Given the description of an element on the screen output the (x, y) to click on. 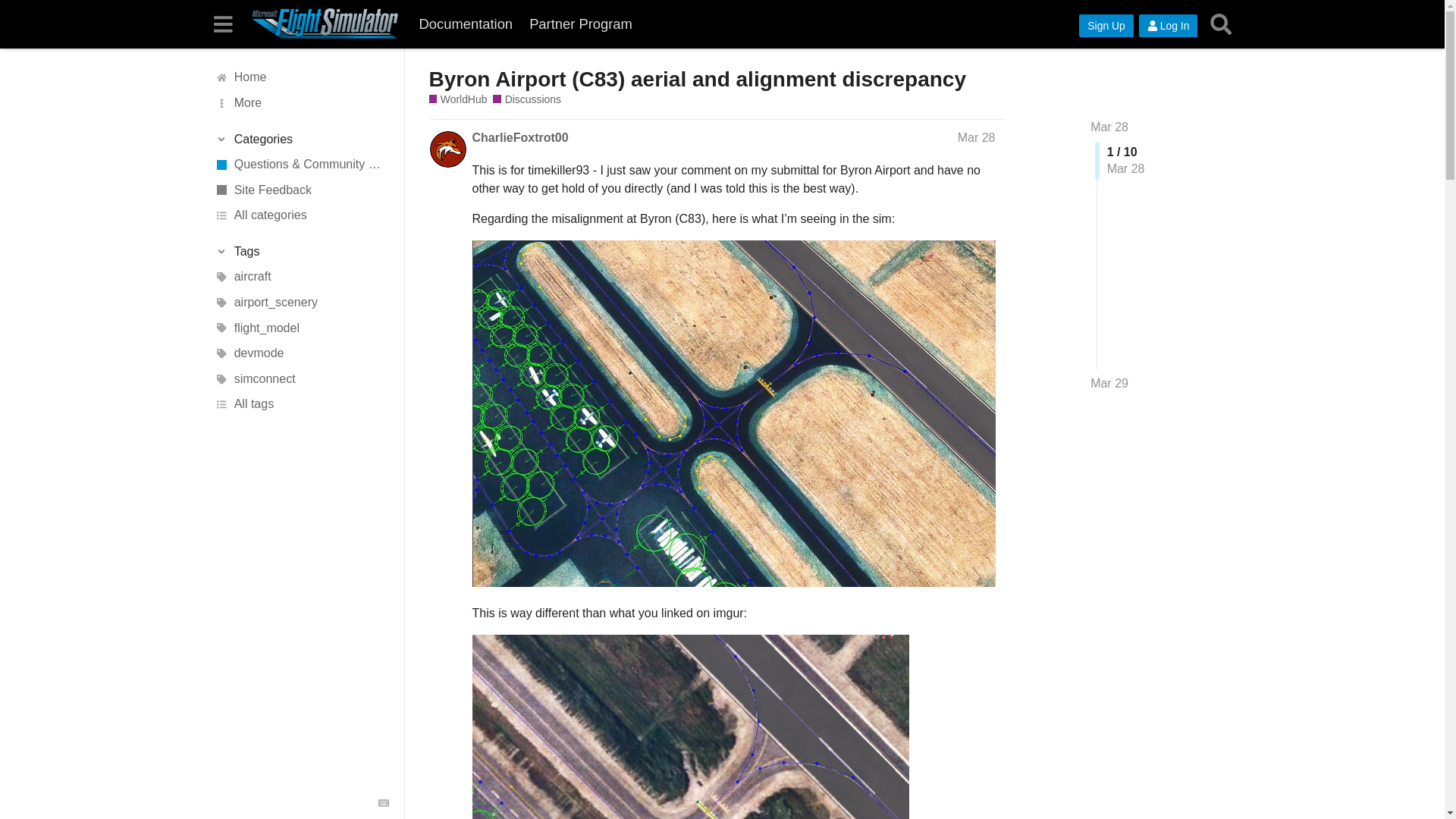
All topics (301, 77)
Mar 29 (1109, 383)
aircraft (301, 277)
Mar 28 (1109, 126)
Log In (1168, 25)
Partner Program (580, 23)
Home (301, 77)
Discussions (526, 99)
